Given the description of an element on the screen output the (x, y) to click on. 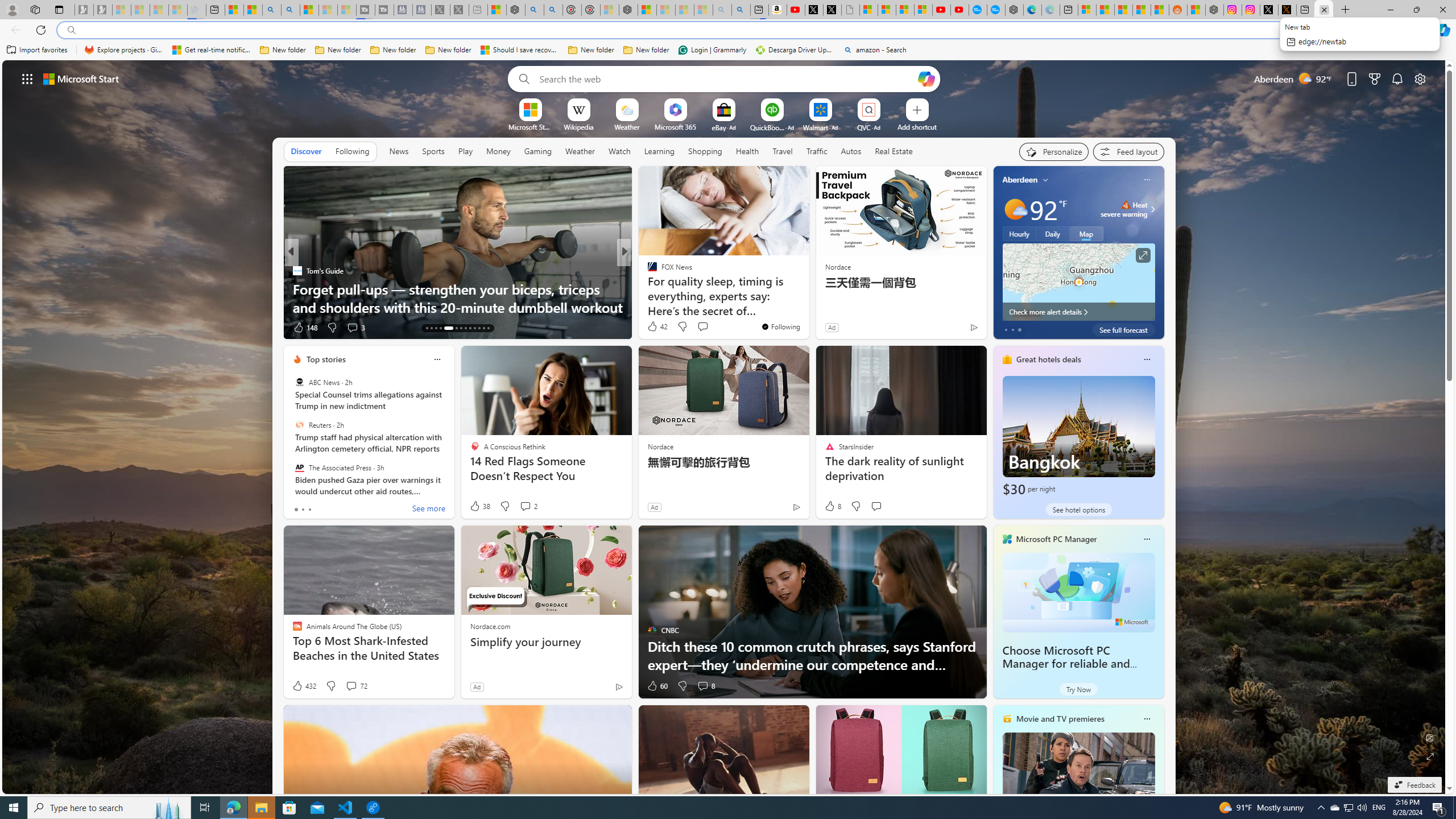
AutomationID: tab-21 (470, 328)
AccuWeather (647, 270)
View comments 1 Comment (6, 327)
